Given the description of an element on the screen output the (x, y) to click on. 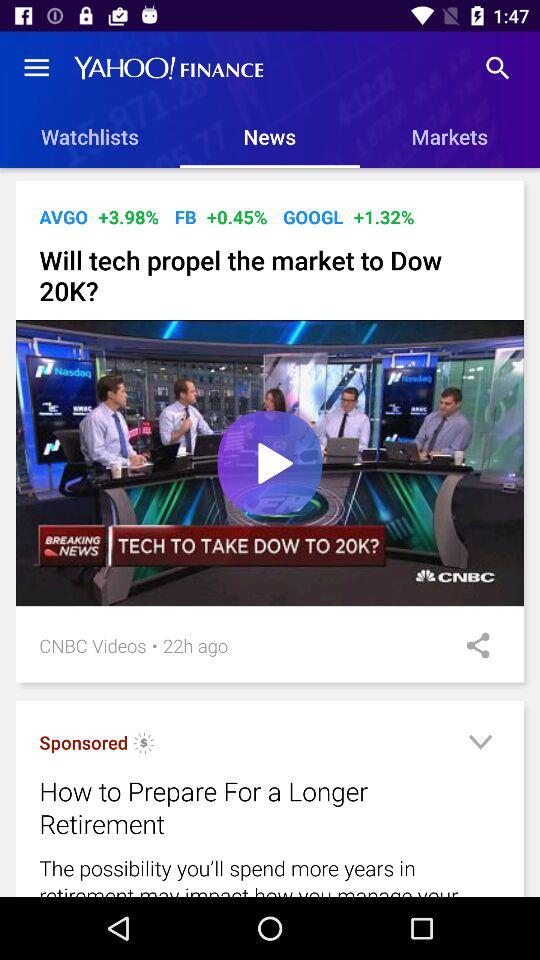
jump until cnbc videos item (92, 645)
